Given the description of an element on the screen output the (x, y) to click on. 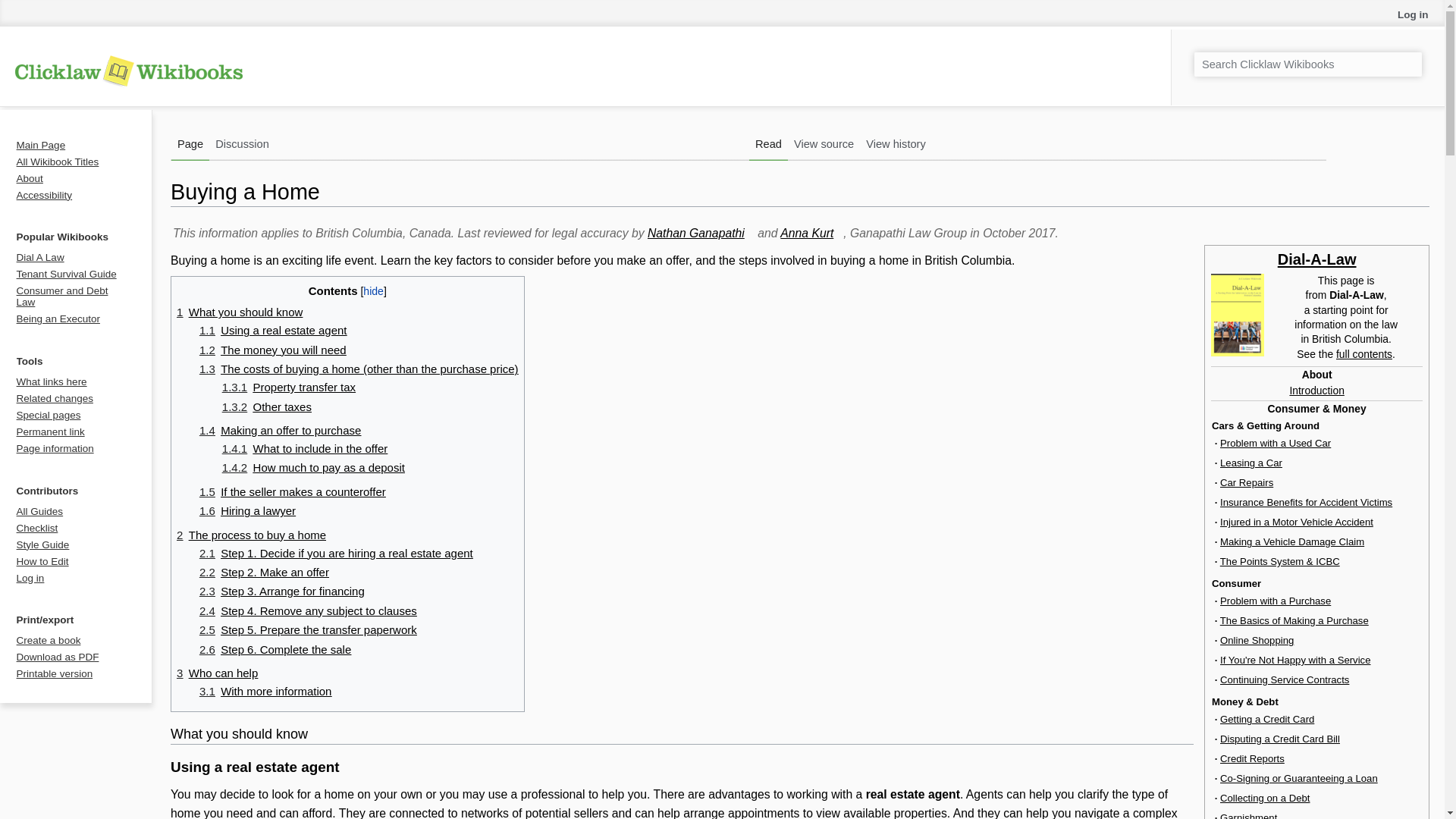
Search (1408, 52)
Disputing a Credit Card Bill (1279, 738)
Search (1408, 52)
Leasing a Car (1251, 462)
Car Repairs (1246, 482)
Insurance Benefits for Accident Victims (1305, 501)
Dial-A-Law (1317, 258)
If You're Not Happy with a Service (1295, 659)
Problem with a Used Car (1275, 442)
